Given the description of an element on the screen output the (x, y) to click on. 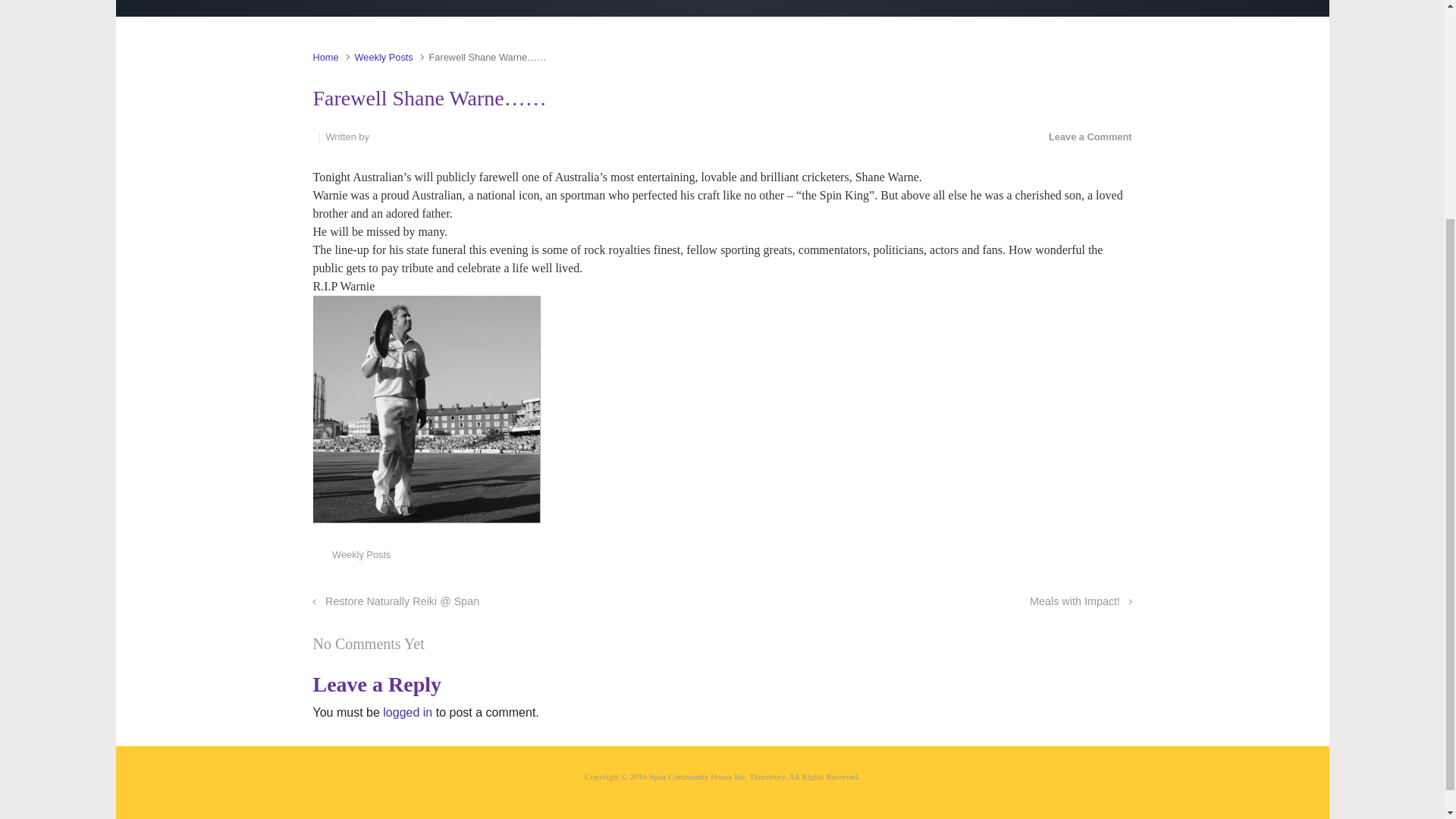
Weekly Posts (360, 554)
Meals with Impact! (1080, 601)
Weekly Posts (382, 57)
Home (325, 57)
Weekly Posts (382, 57)
logged in (407, 712)
Leave a Comment (1090, 136)
